Given the description of an element on the screen output the (x, y) to click on. 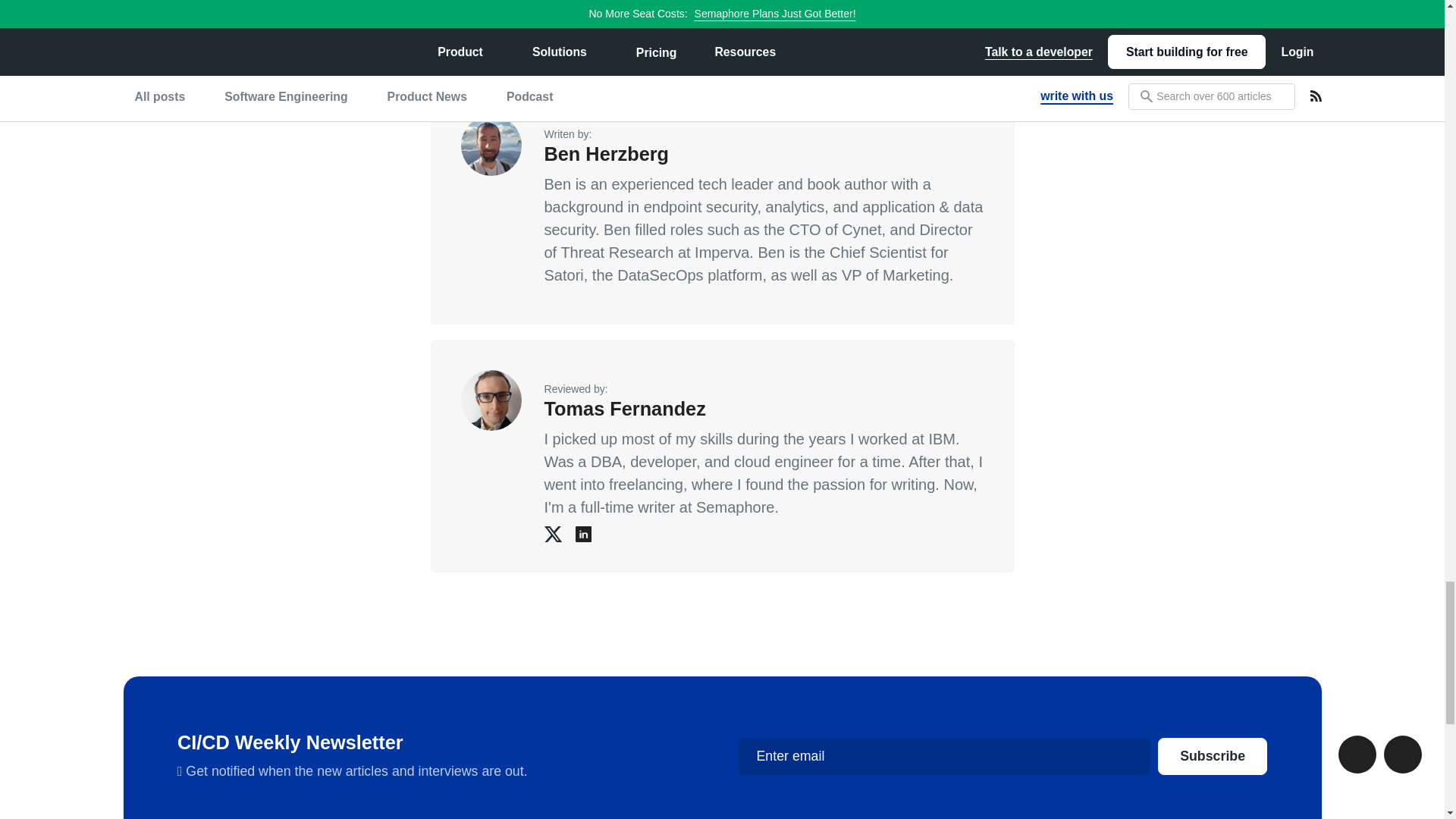
Subscribe (1211, 755)
Post Comment (491, 4)
